Given the description of an element on the screen output the (x, y) to click on. 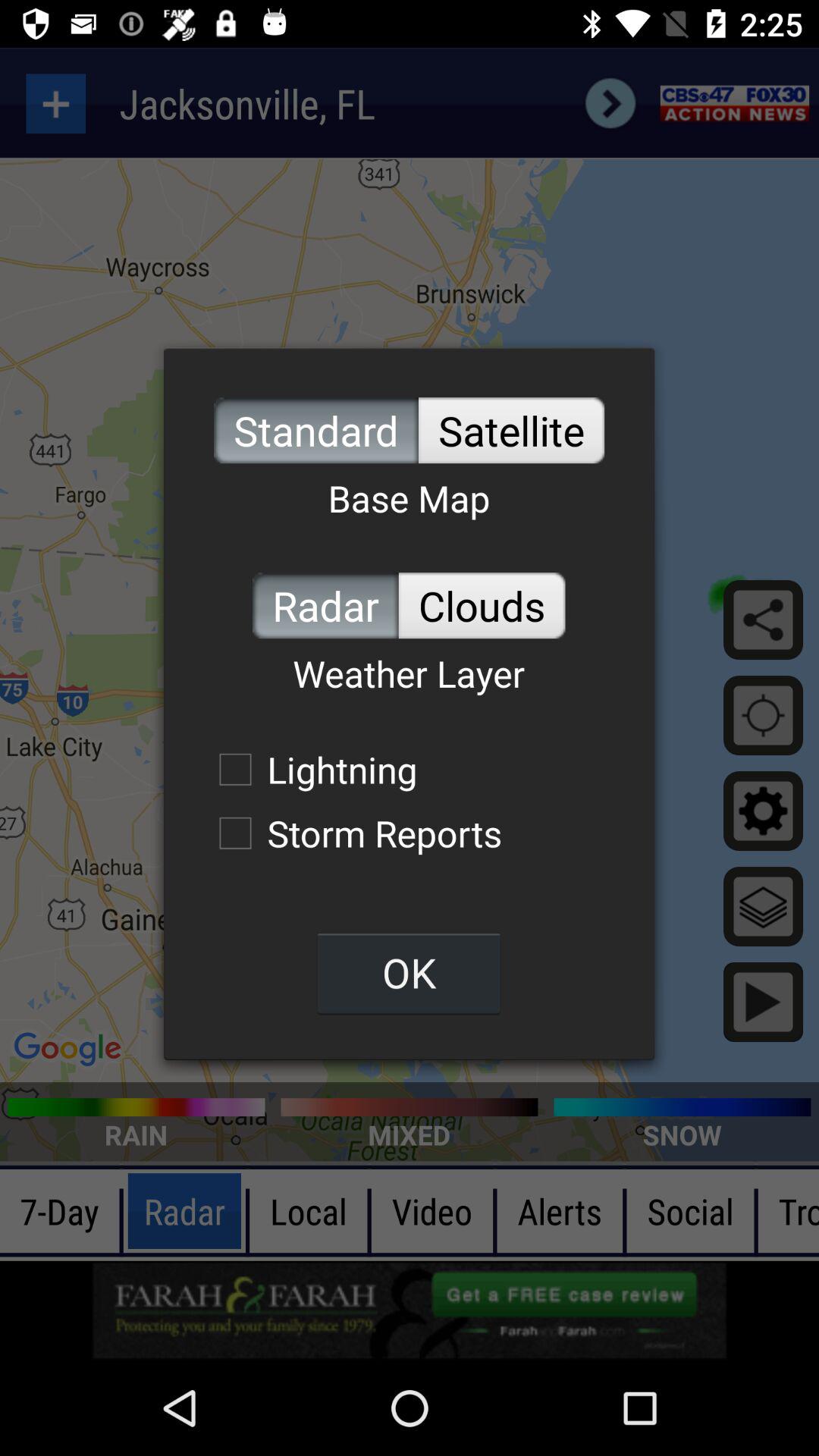
select radar (325, 605)
